Given the description of an element on the screen output the (x, y) to click on. 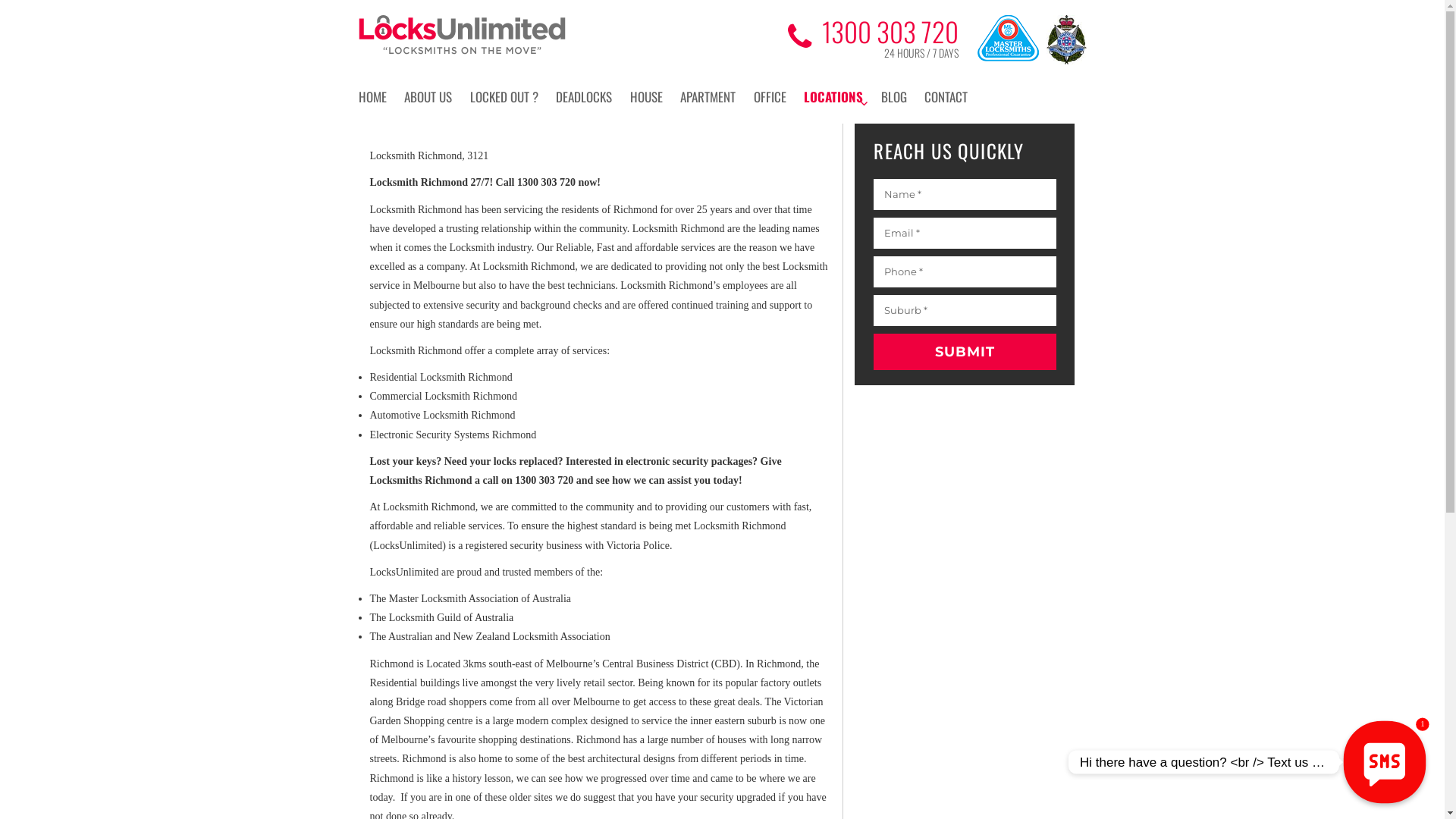
ABOUT US Element type: text (435, 96)
CONTACT Element type: text (953, 96)
HOUSE Element type: text (653, 96)
DEADLOCKS Element type: text (591, 96)
1300 303 720
24 HOURS / 7 DAYS Element type: text (872, 37)
Submit Element type: text (964, 351)
1 Element type: text (1384, 762)
LOCATIONS Element type: text (840, 96)
APARTMENT Element type: text (715, 96)
LOCKED OUT ? Element type: text (511, 96)
HOME Element type: text (379, 96)
BLOG Element type: text (901, 96)
OFFICE Element type: text (777, 96)
